Given the description of an element on the screen output the (x, y) to click on. 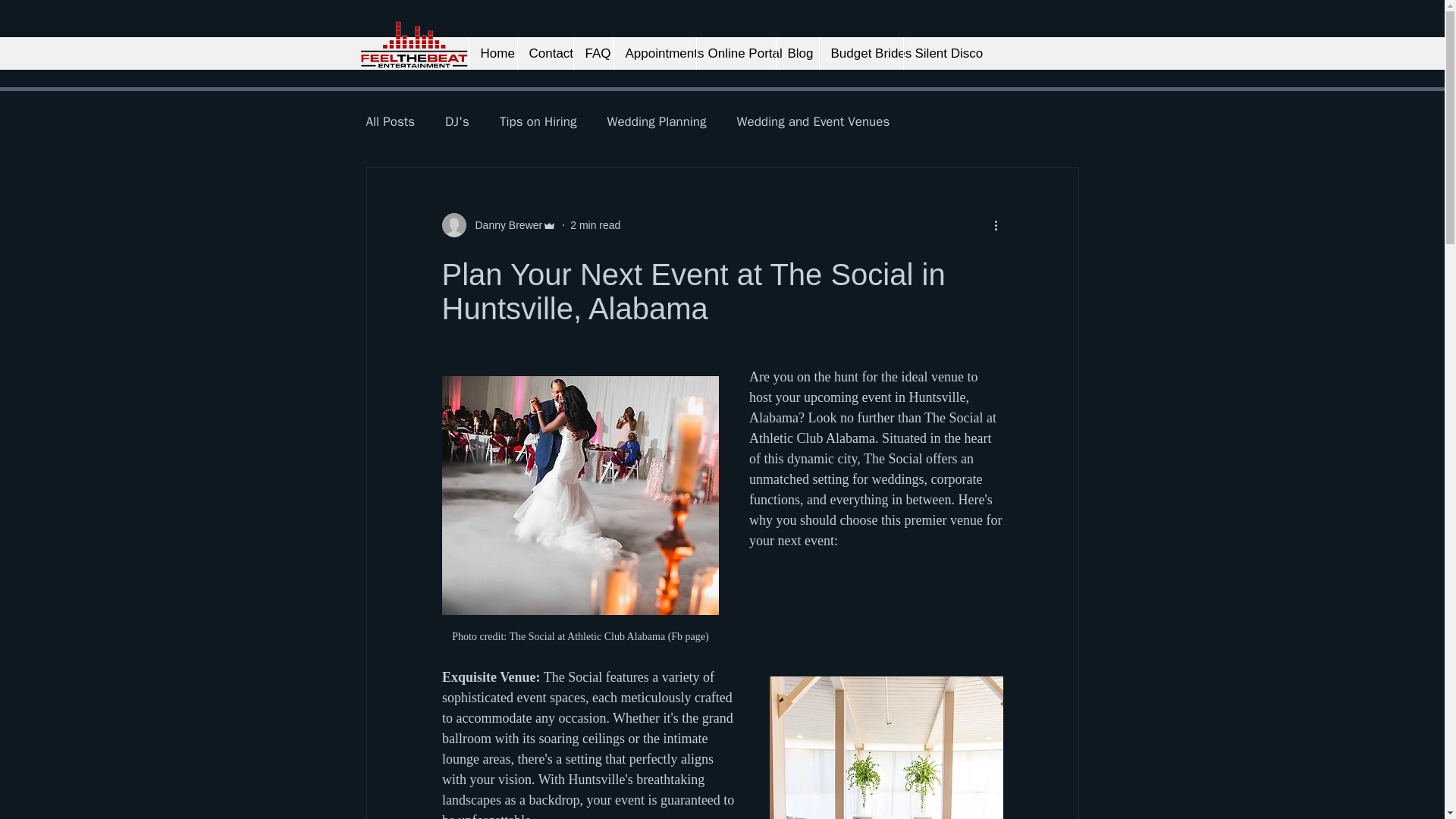
Silent Disco (938, 52)
Contact (544, 52)
Home (492, 52)
Appointments (653, 52)
Danny Brewer (503, 224)
2 min read (595, 224)
Online Portal (735, 52)
Blog (796, 52)
All Posts (389, 120)
Budget Brides (860, 52)
